Given the description of an element on the screen output the (x, y) to click on. 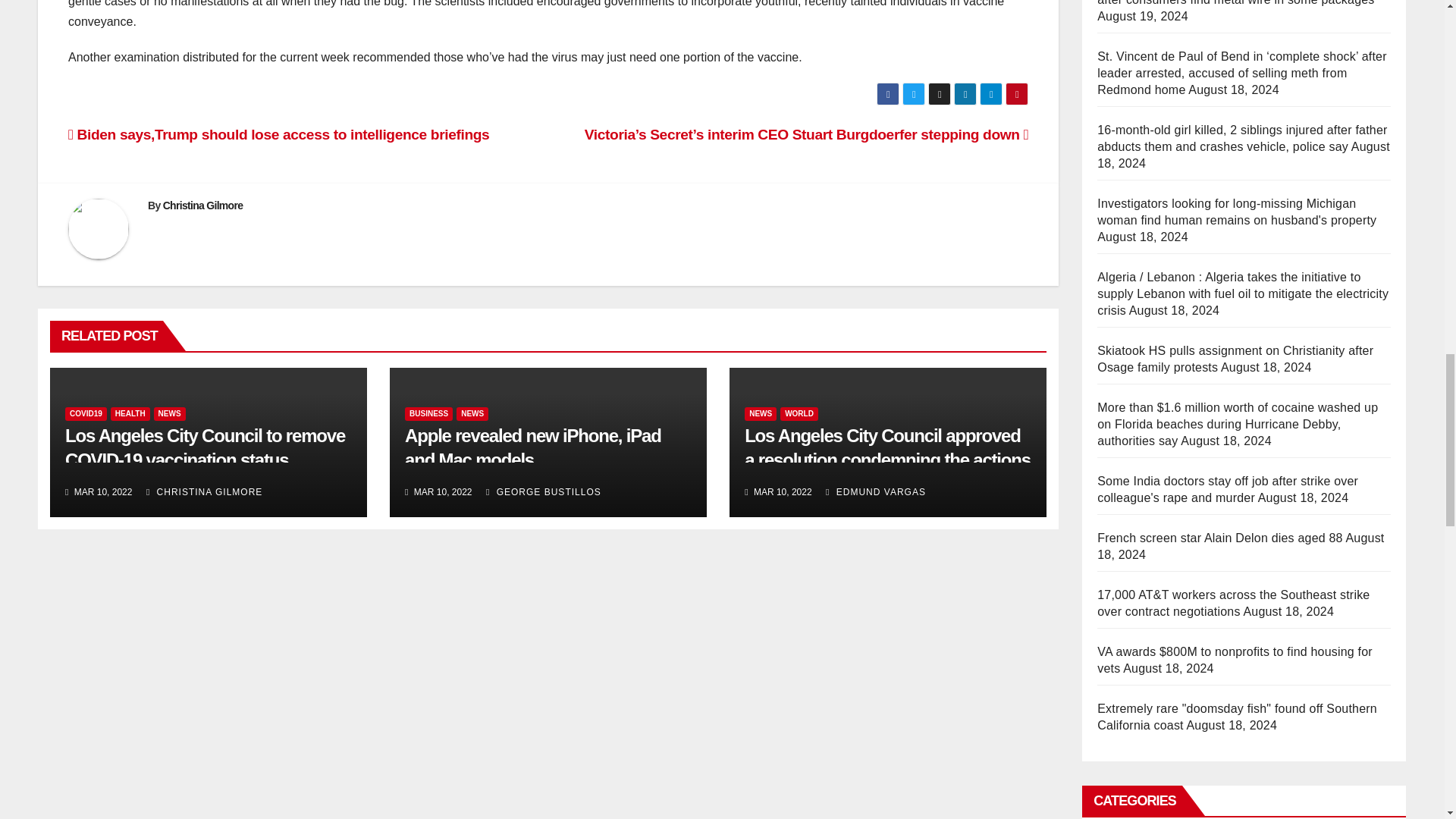
Permalink to: Apple revealed new iPhone, iPad and Mac models (532, 447)
